Given the description of an element on the screen output the (x, y) to click on. 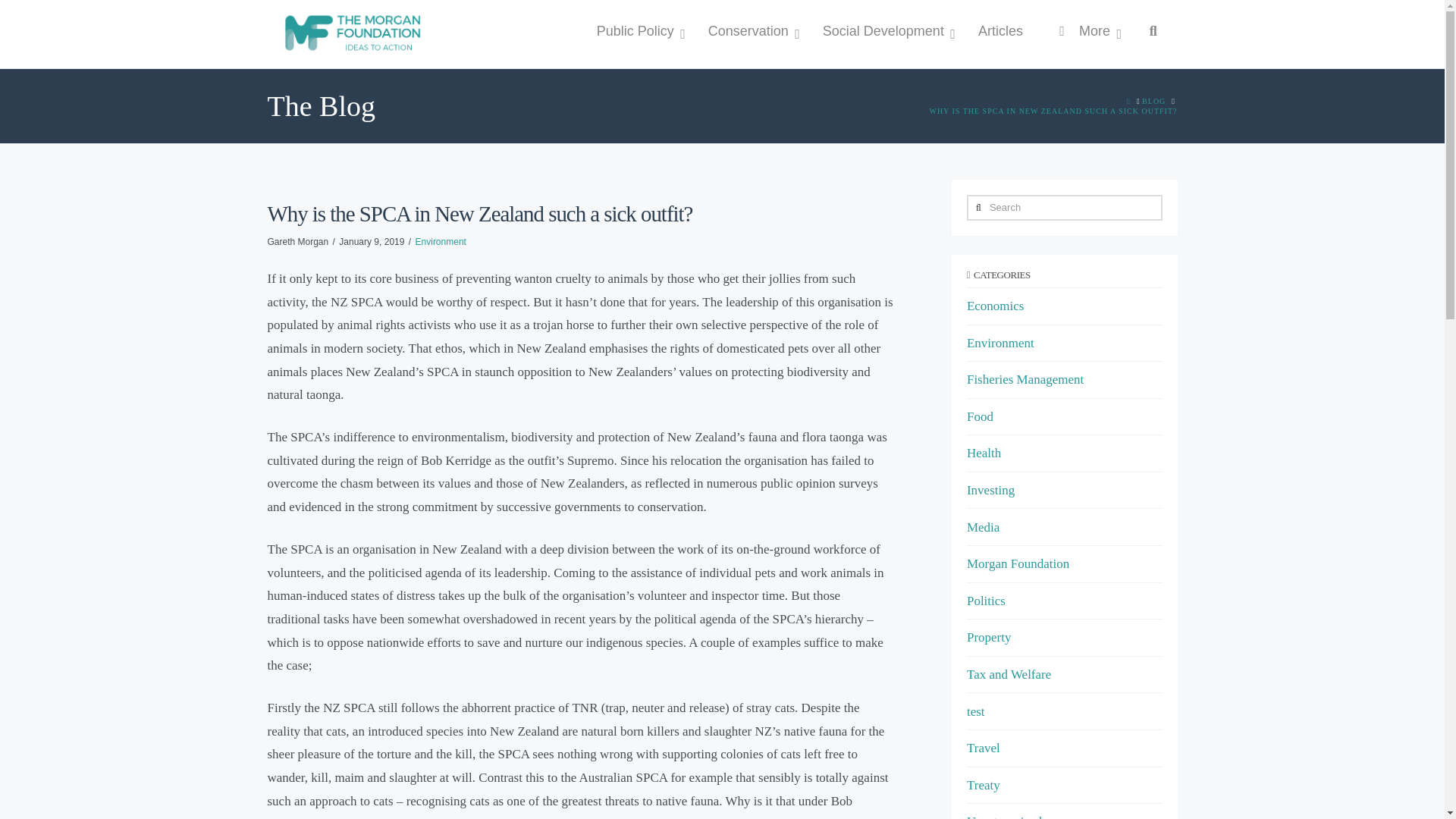
Social Development (885, 31)
You Are Here (1052, 111)
